Given the description of an element on the screen output the (x, y) to click on. 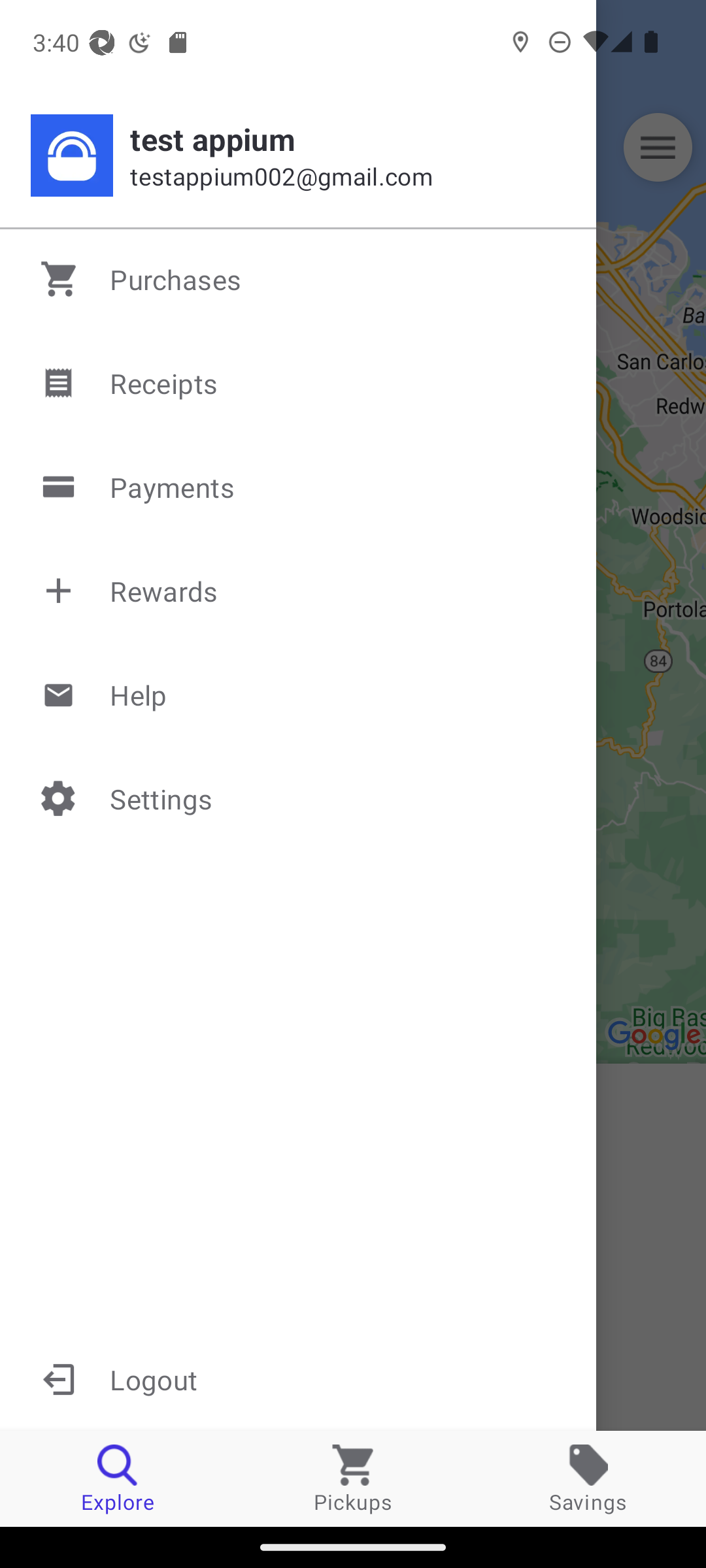
Purchases (299, 278)
Receipts (299, 382)
Payments (299, 487)
Rewards (299, 590)
Help (299, 694)
Settings (299, 797)
Logout (297, 1379)
Pickups (352, 1478)
Savings (588, 1478)
